Given the description of an element on the screen output the (x, y) to click on. 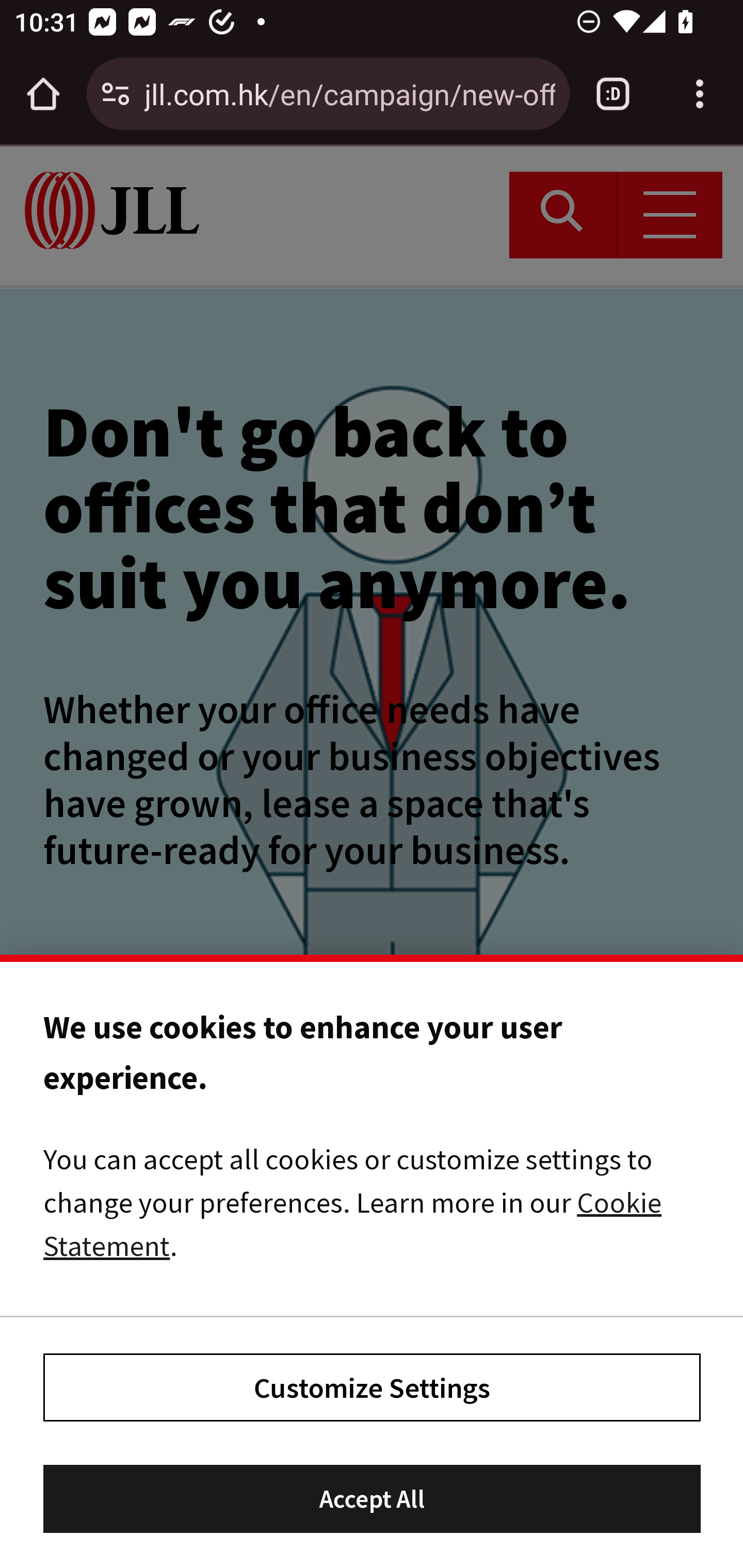
Open the home page (43, 93)
Connection is secure (115, 93)
Switch or close tabs (612, 93)
Customize and control Google Chrome (699, 93)
JLL Hong Kong (112, 209)
search (562, 214)
Cookie Statement (352, 1222)
Customize Settings (372, 1386)
Accept All (372, 1499)
